Given the description of an element on the screen output the (x, y) to click on. 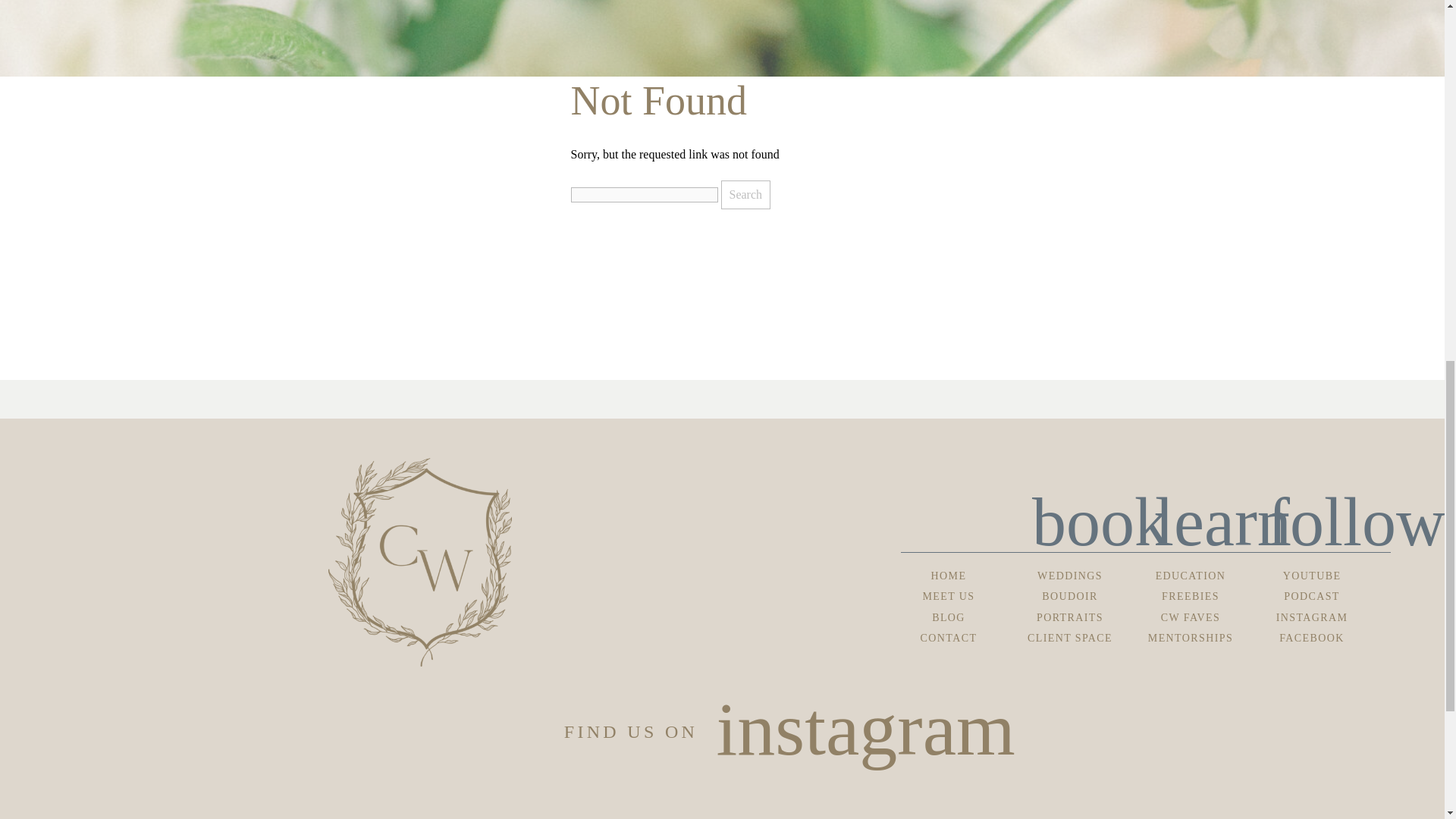
MEET US (948, 595)
HOME (948, 574)
PORTRAITS (1069, 616)
CLIENT SPACE (1070, 637)
WEDDINGS (1069, 574)
EDUCATION (1190, 574)
MENTORSHIPS (1190, 637)
BLOG (948, 616)
Search (745, 194)
